Given the description of an element on the screen output the (x, y) to click on. 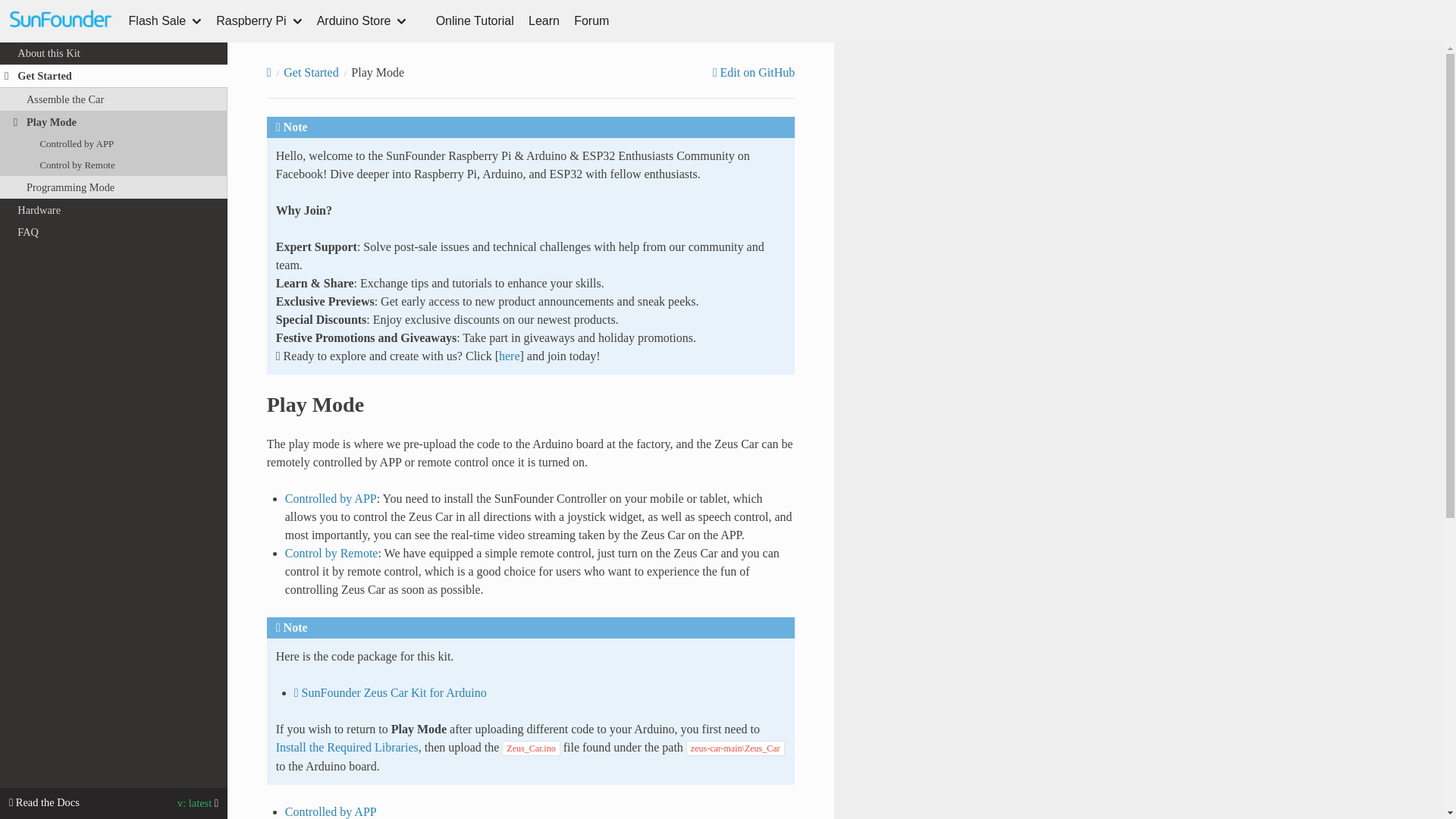
Raspberry Pi (258, 21)
Flash Sale (165, 21)
Arduino Store (362, 21)
